Given the description of an element on the screen output the (x, y) to click on. 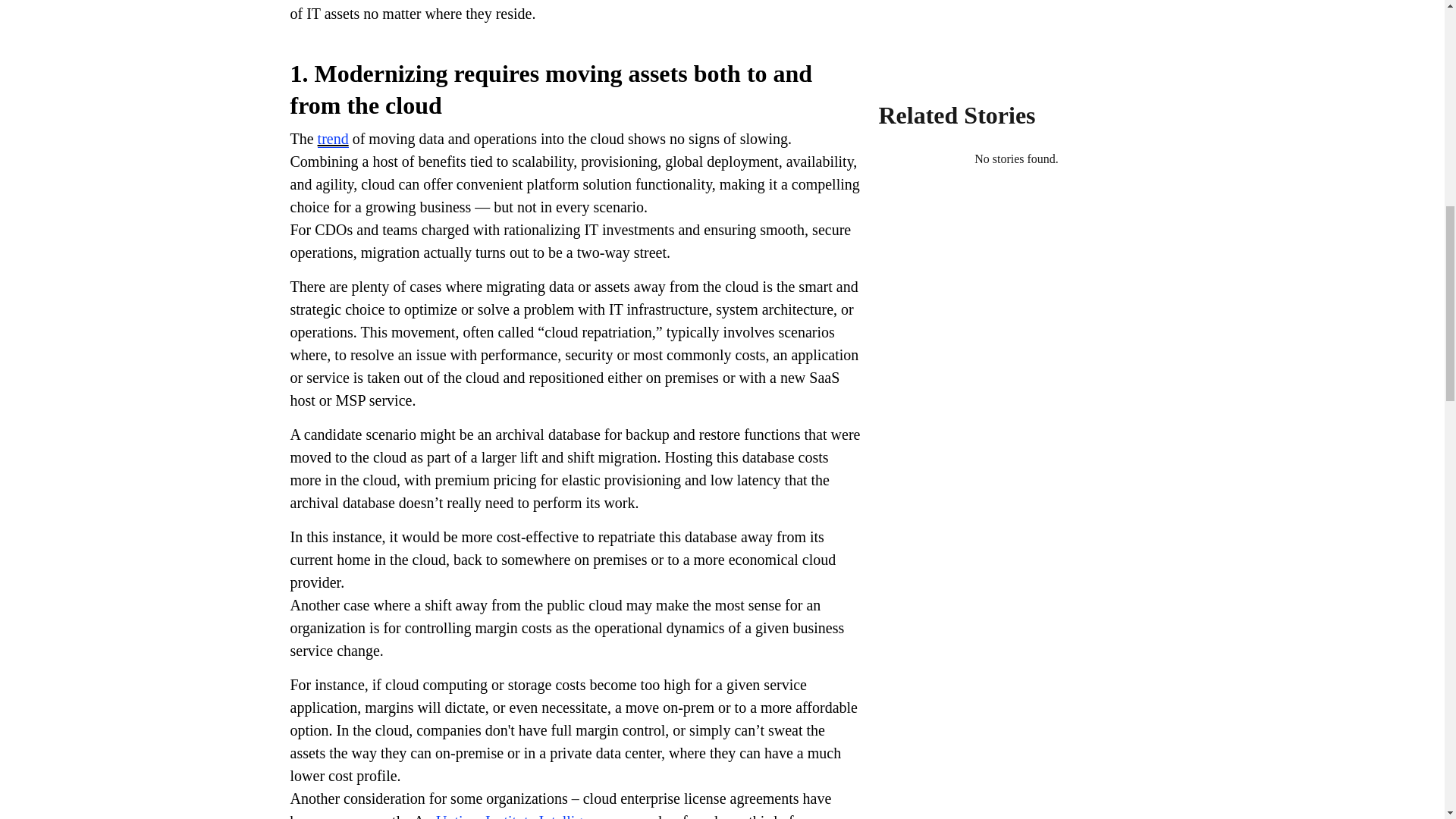
Uptime Institute Intelligence survey (544, 816)
trend (333, 139)
